Given the description of an element on the screen output the (x, y) to click on. 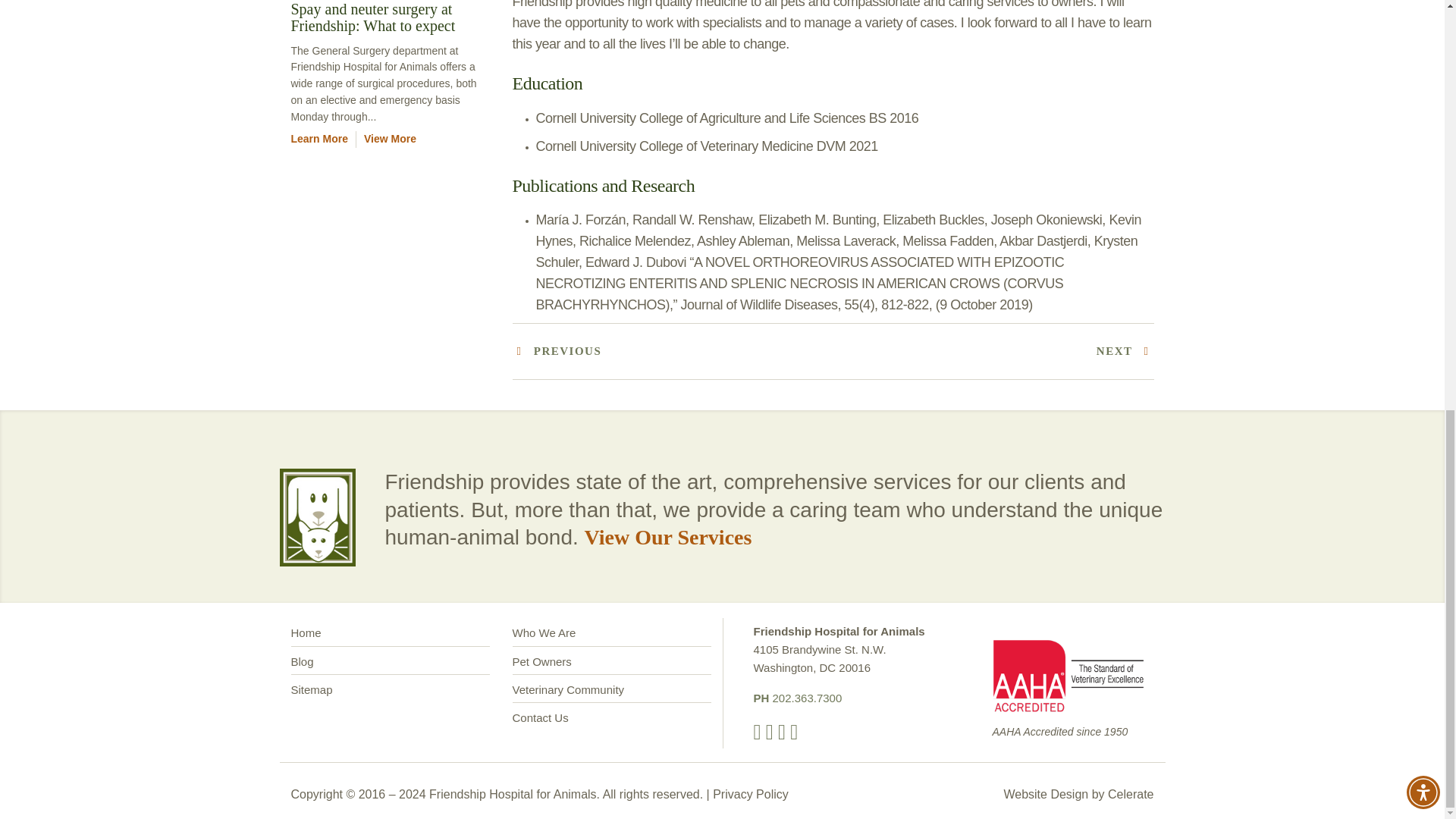
Web design and development (1130, 793)
